Given the description of an element on the screen output the (x, y) to click on. 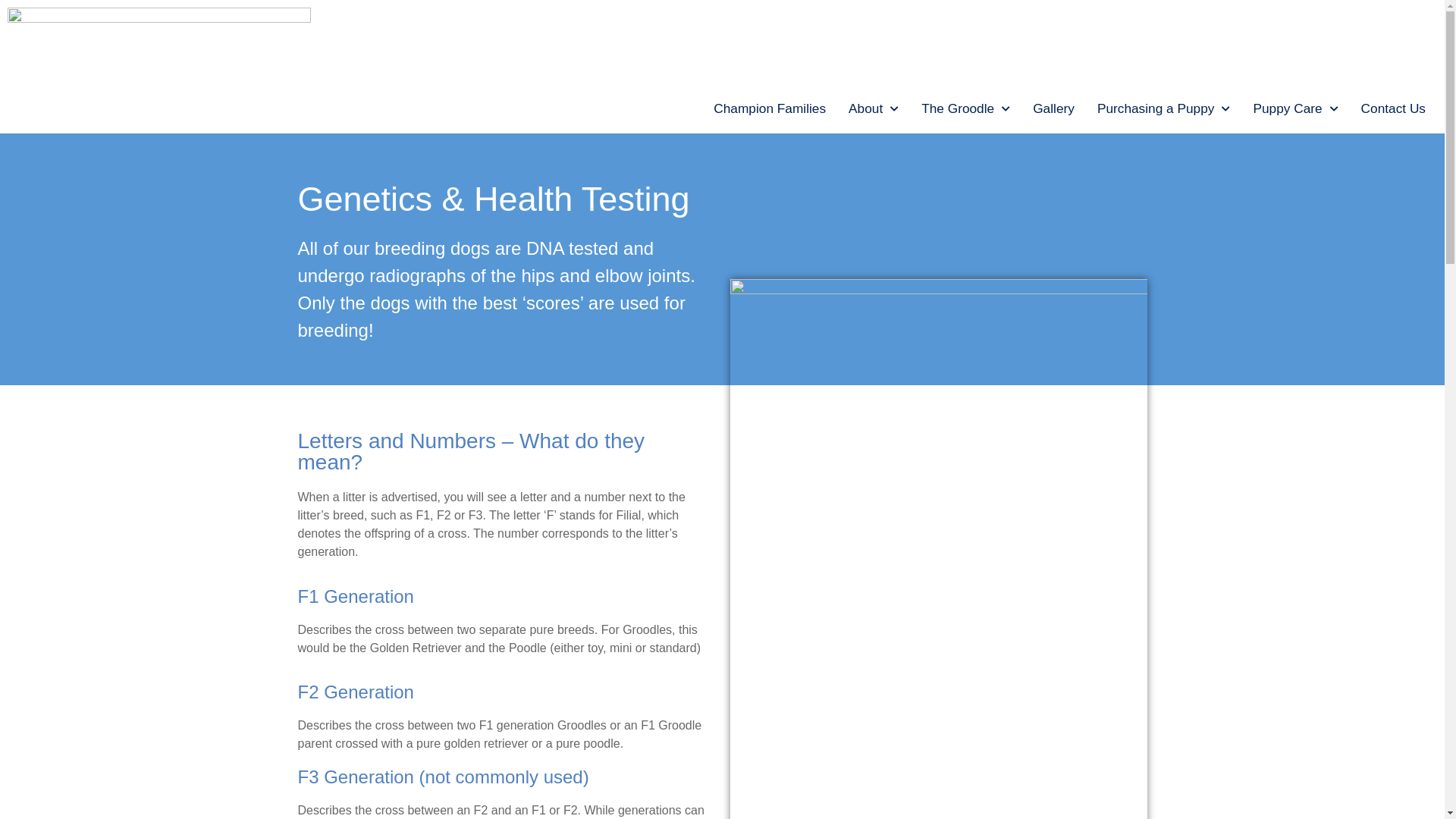
The Groodle Element type: text (965, 108)
Purchasing a Puppy Element type: text (1163, 108)
Contact Us Element type: text (1393, 108)
Puppy Care Element type: text (1295, 108)
About Element type: text (873, 108)
Champion Families Element type: text (769, 108)
Gallery Element type: text (1053, 108)
